Given the description of an element on the screen output the (x, y) to click on. 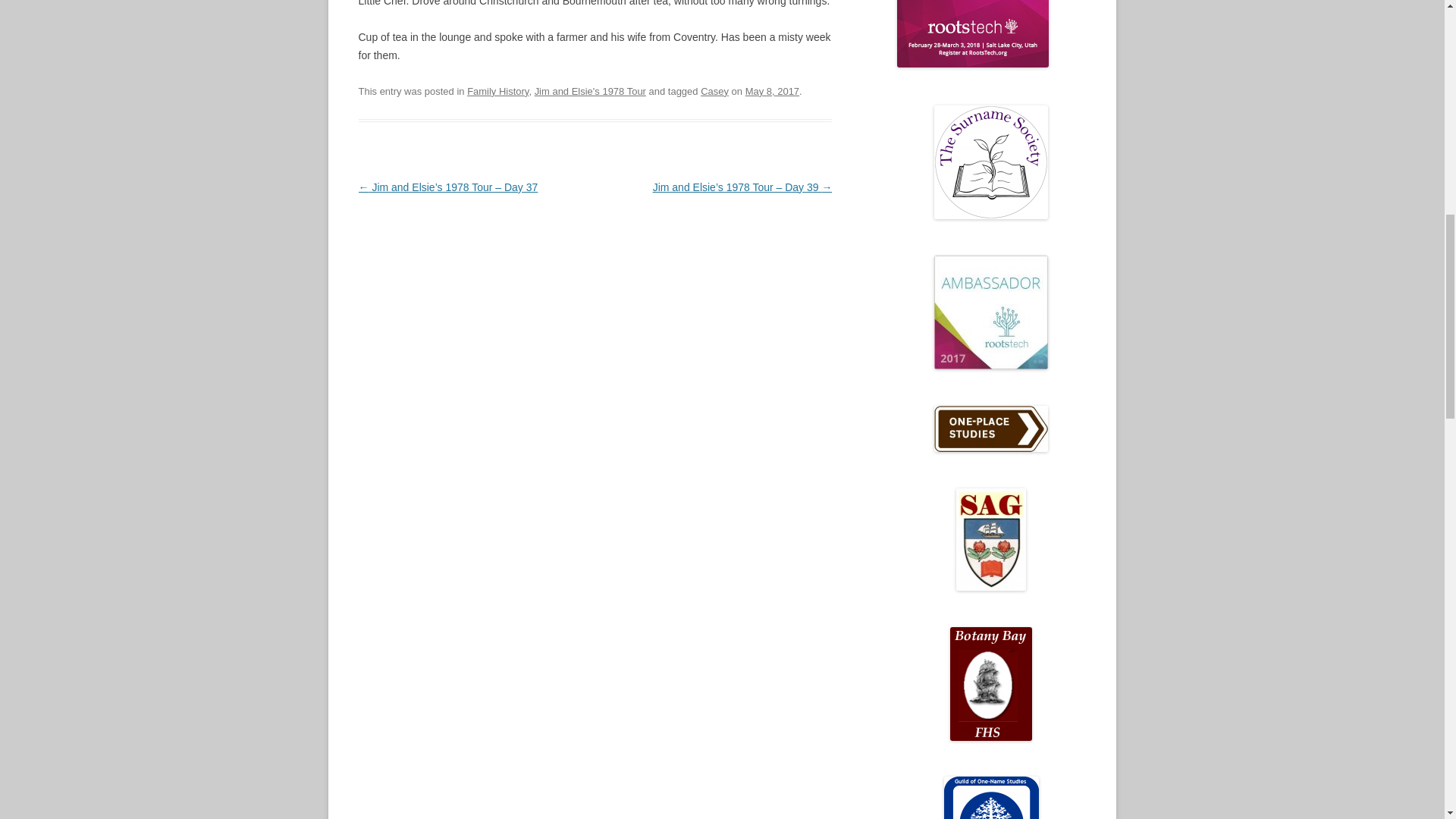
06:00 (772, 91)
Casey (714, 91)
Family History (497, 91)
Jim and Elsie's 1978 Tour (590, 91)
May 8, 2017 (772, 91)
